Given the description of an element on the screen output the (x, y) to click on. 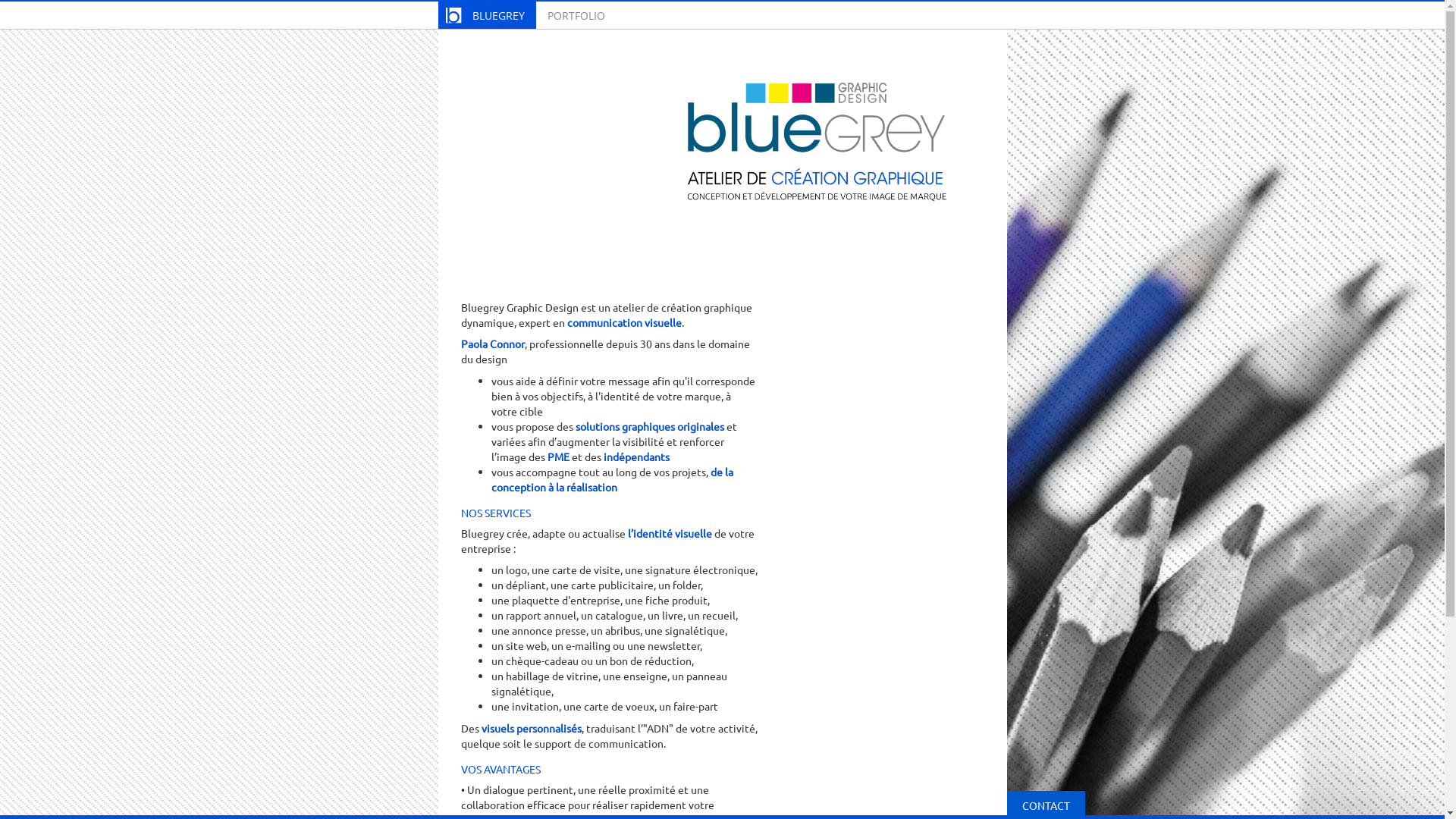
BLUEGREY Element type: text (487, 14)
PORTFOLIO Element type: text (575, 14)
